Given the description of an element on the screen output the (x, y) to click on. 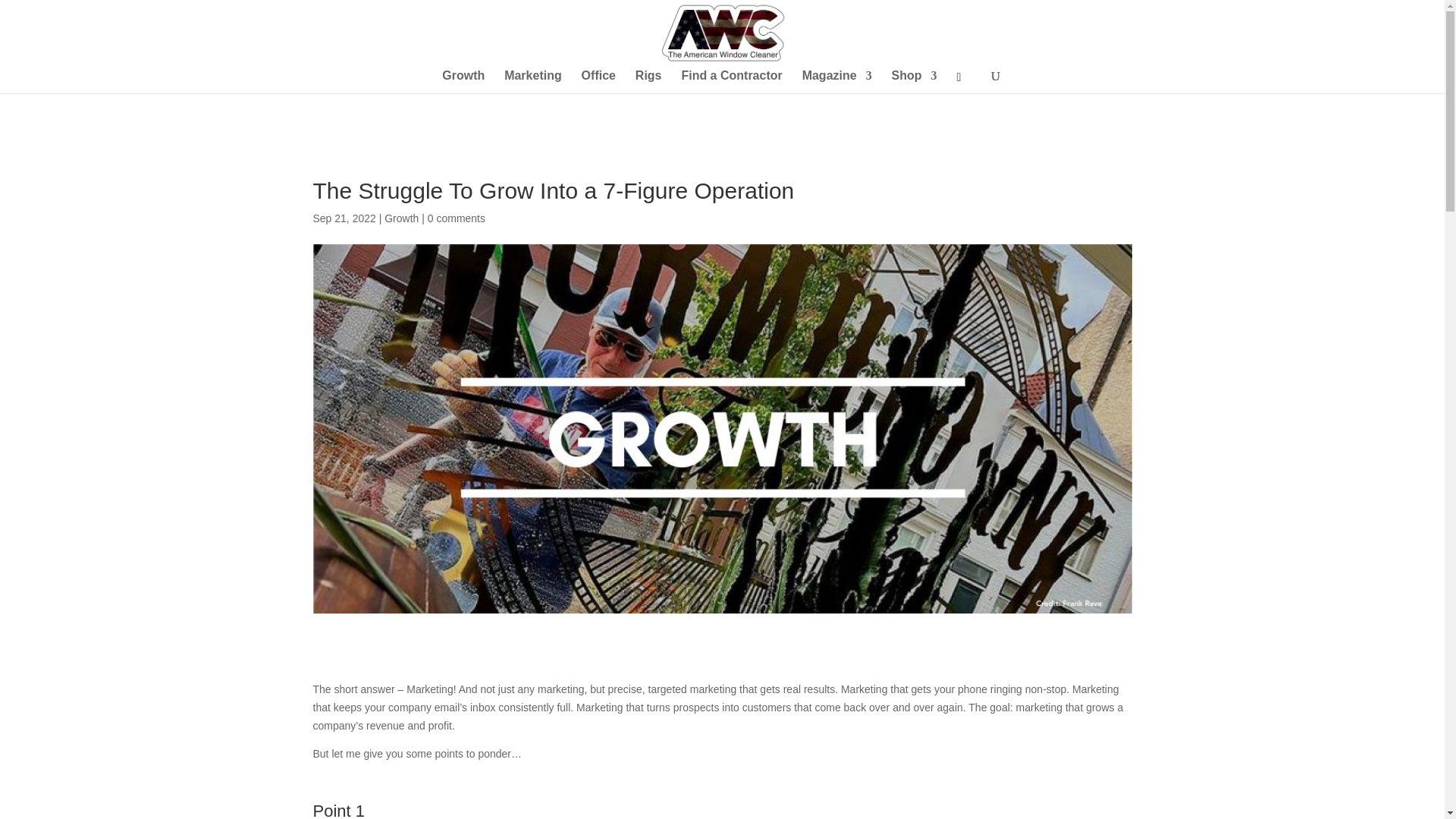
Shop (914, 81)
Growth (463, 81)
Magazine (837, 81)
0 comments (456, 218)
Growth (401, 218)
Rigs (648, 81)
Marketing (532, 81)
Office (597, 81)
Find a Contractor (731, 81)
